Given the description of an element on the screen output the (x, y) to click on. 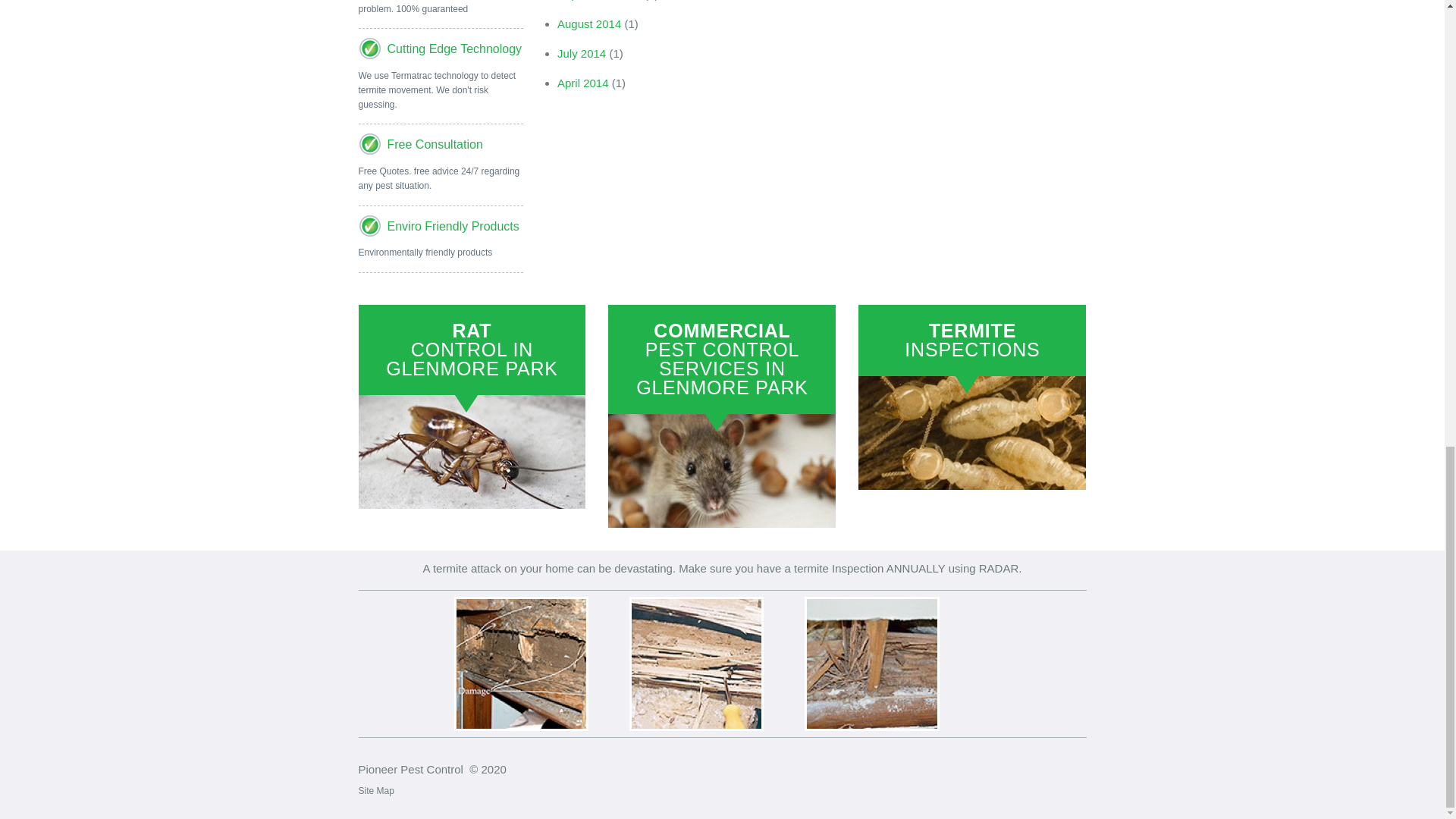
August 2014 (589, 23)
April 2014 (582, 82)
July 2014 (581, 52)
